Given the description of an element on the screen output the (x, y) to click on. 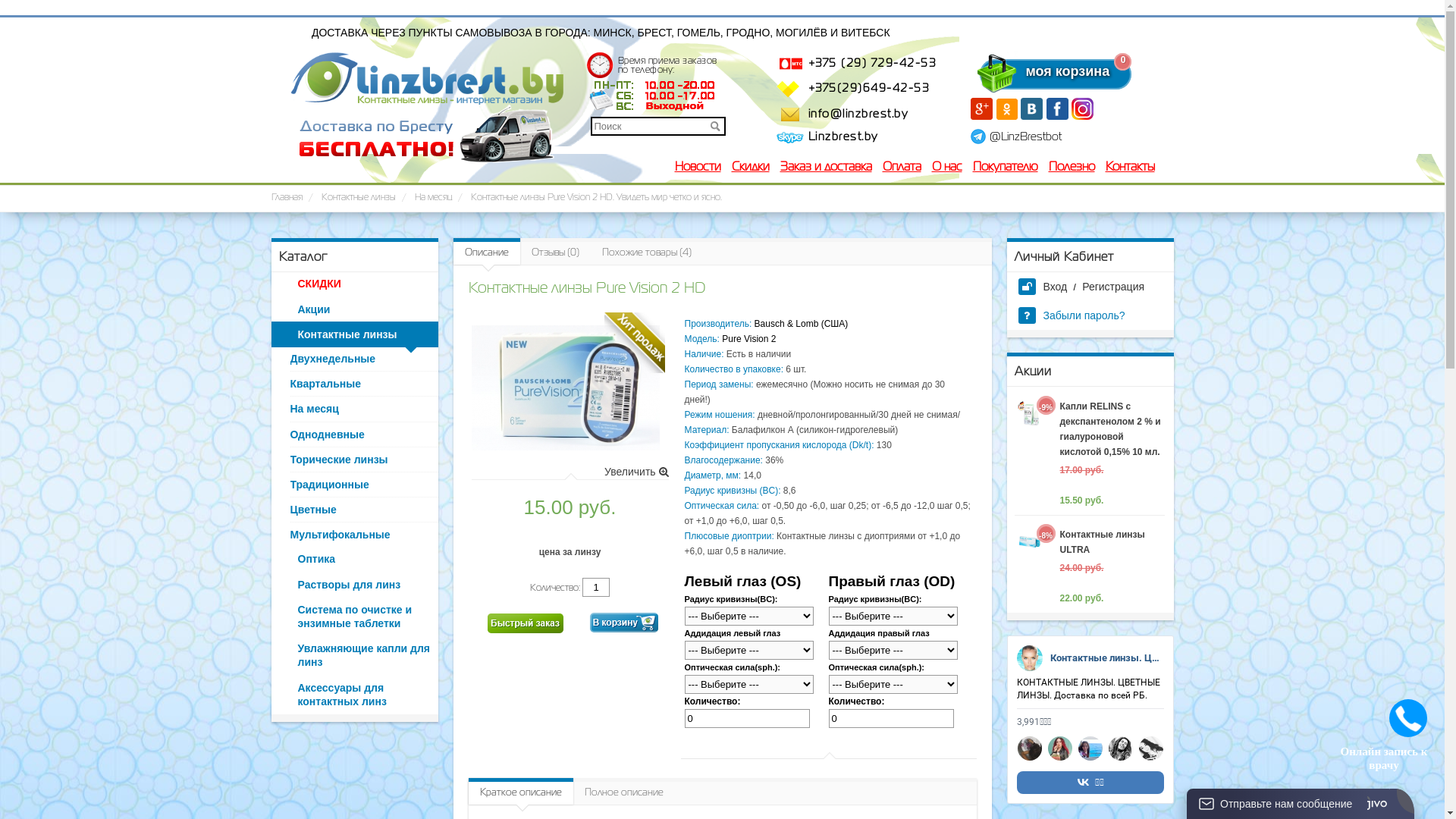
@LinzBrestbot Element type: text (1024, 136)
